Given the description of an element on the screen output the (x, y) to click on. 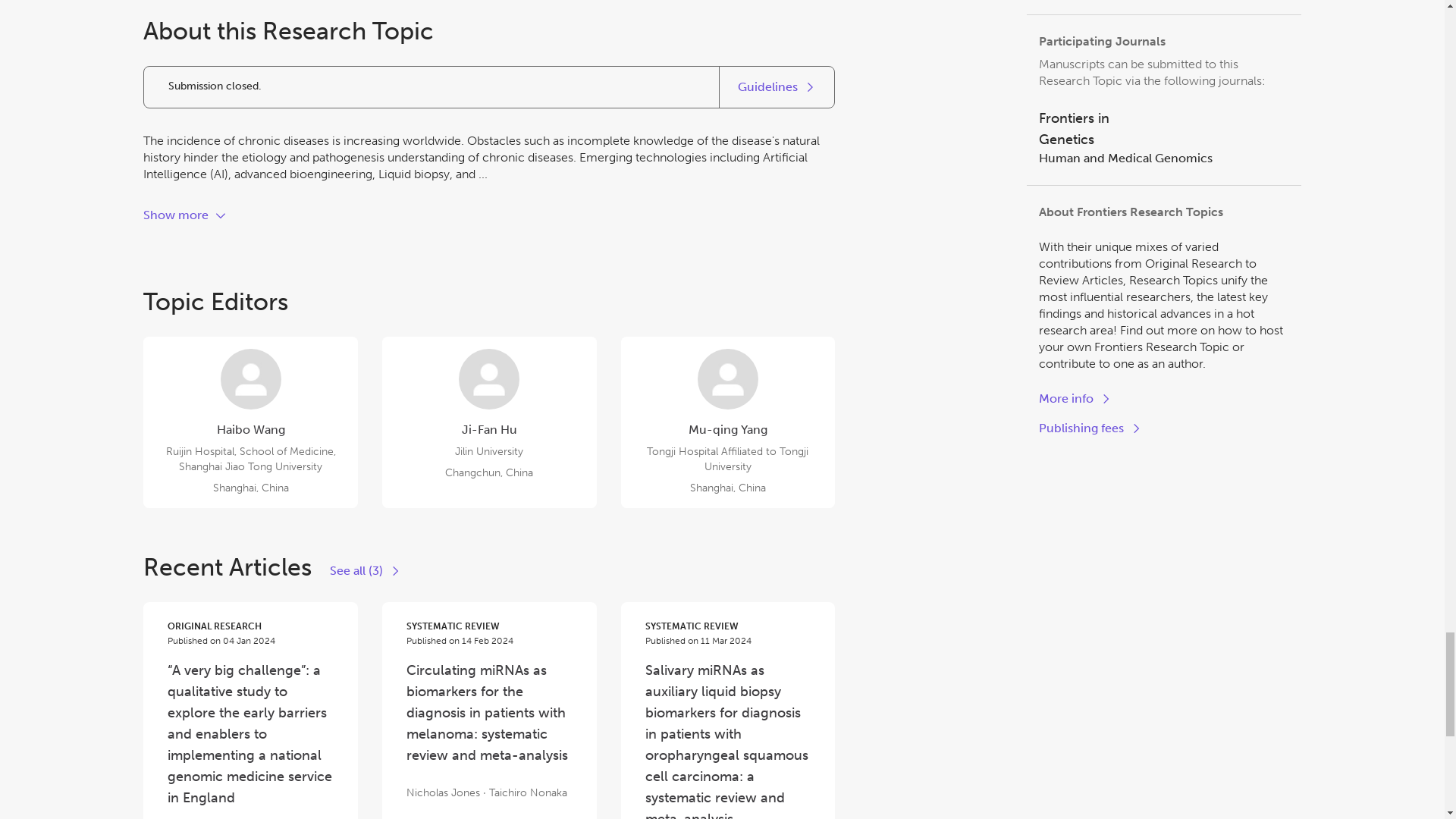
Publishing fees (1163, 128)
Show more (1090, 428)
Guidelines (184, 215)
Human and Medical Genomics (776, 86)
More info (1163, 158)
